Given the description of an element on the screen output the (x, y) to click on. 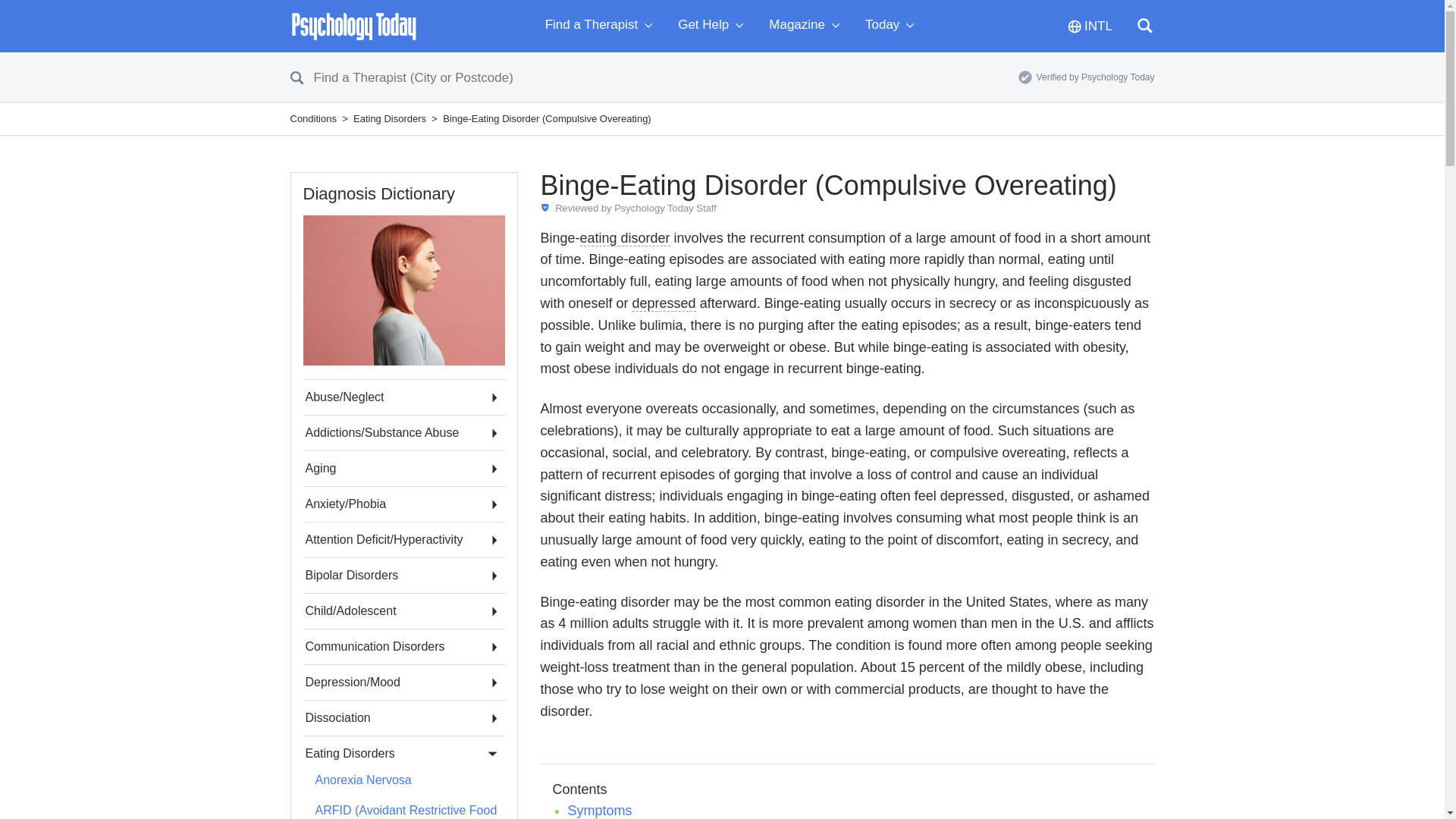
Get Help (714, 25)
Find a Therapist (602, 25)
Psychology Today (352, 25)
